Given the description of an element on the screen output the (x, y) to click on. 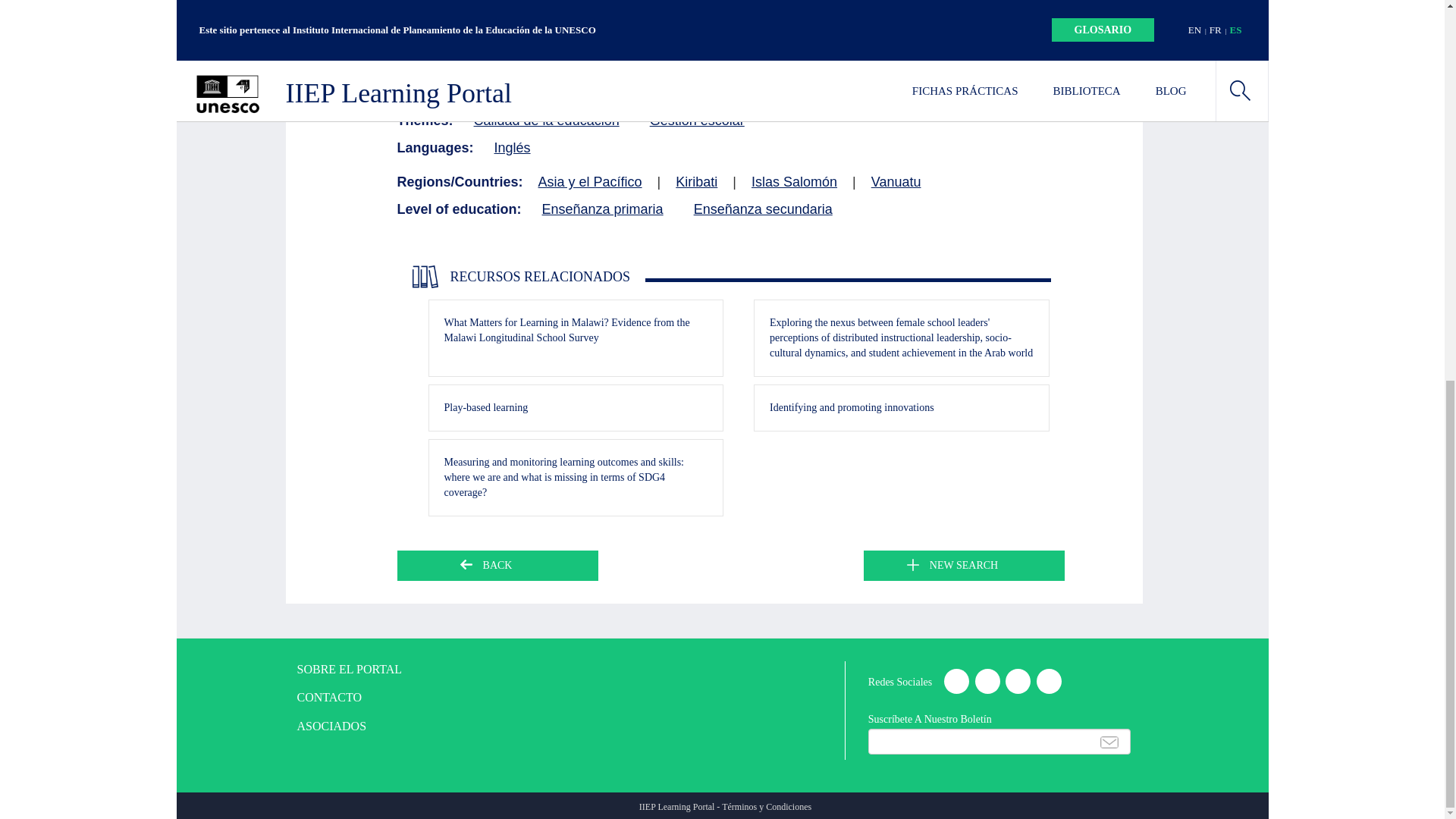
Kiribati (696, 182)
NEW SEARCH (963, 565)
Vanuatu (895, 182)
Identifying and promoting innovations (852, 407)
Play-based learning (486, 407)
BACK (497, 565)
SOBRE EL PORTAL (350, 669)
